Given the description of an element on the screen output the (x, y) to click on. 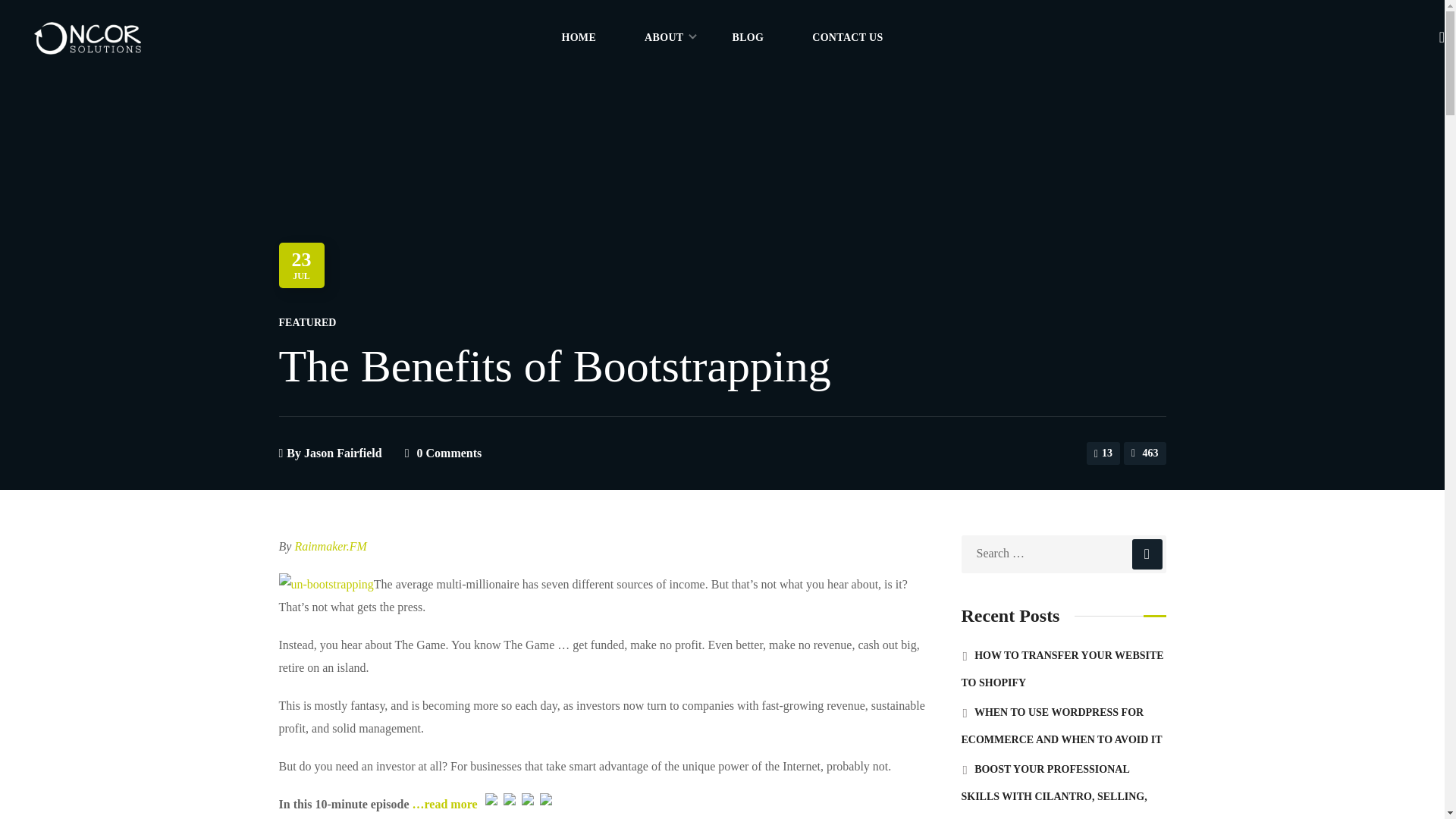
HOME (578, 38)
BLOG (747, 38)
Like (1102, 453)
Total Views (1144, 453)
FEATURED (307, 322)
CONTACT US (847, 38)
13 (1102, 453)
Search (1064, 441)
ABOUT (663, 38)
0 Comments (448, 452)
